Given the description of an element on the screen output the (x, y) to click on. 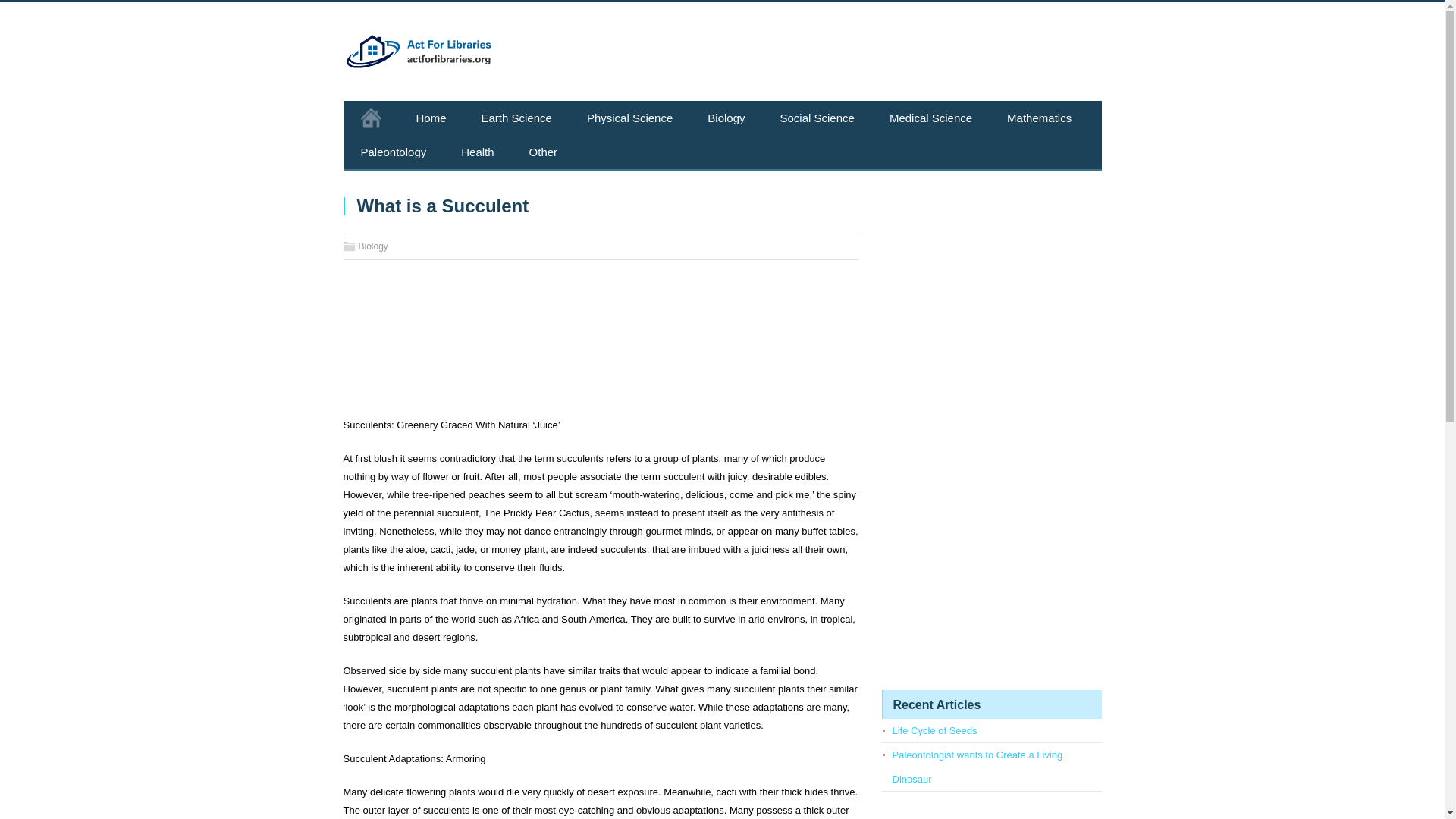
Medical Science (931, 117)
Earth Science (516, 117)
Mathematics (1039, 117)
Biology (372, 245)
Paleontology (393, 151)
Health (477, 151)
Biology (725, 117)
Social Science (817, 117)
Other (543, 151)
Advertisement (600, 344)
